Given the description of an element on the screen output the (x, y) to click on. 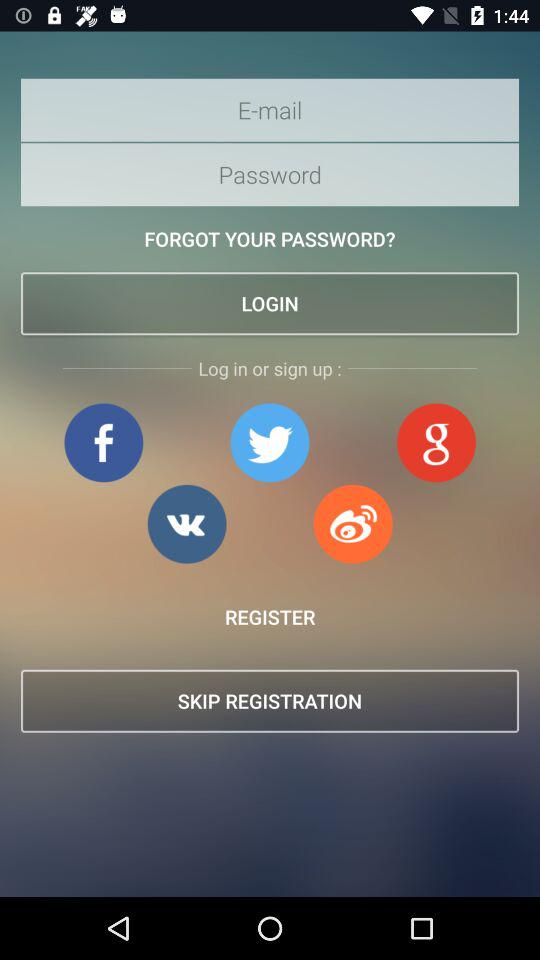
turn off button above the login item (270, 238)
